Given the description of an element on the screen output the (x, y) to click on. 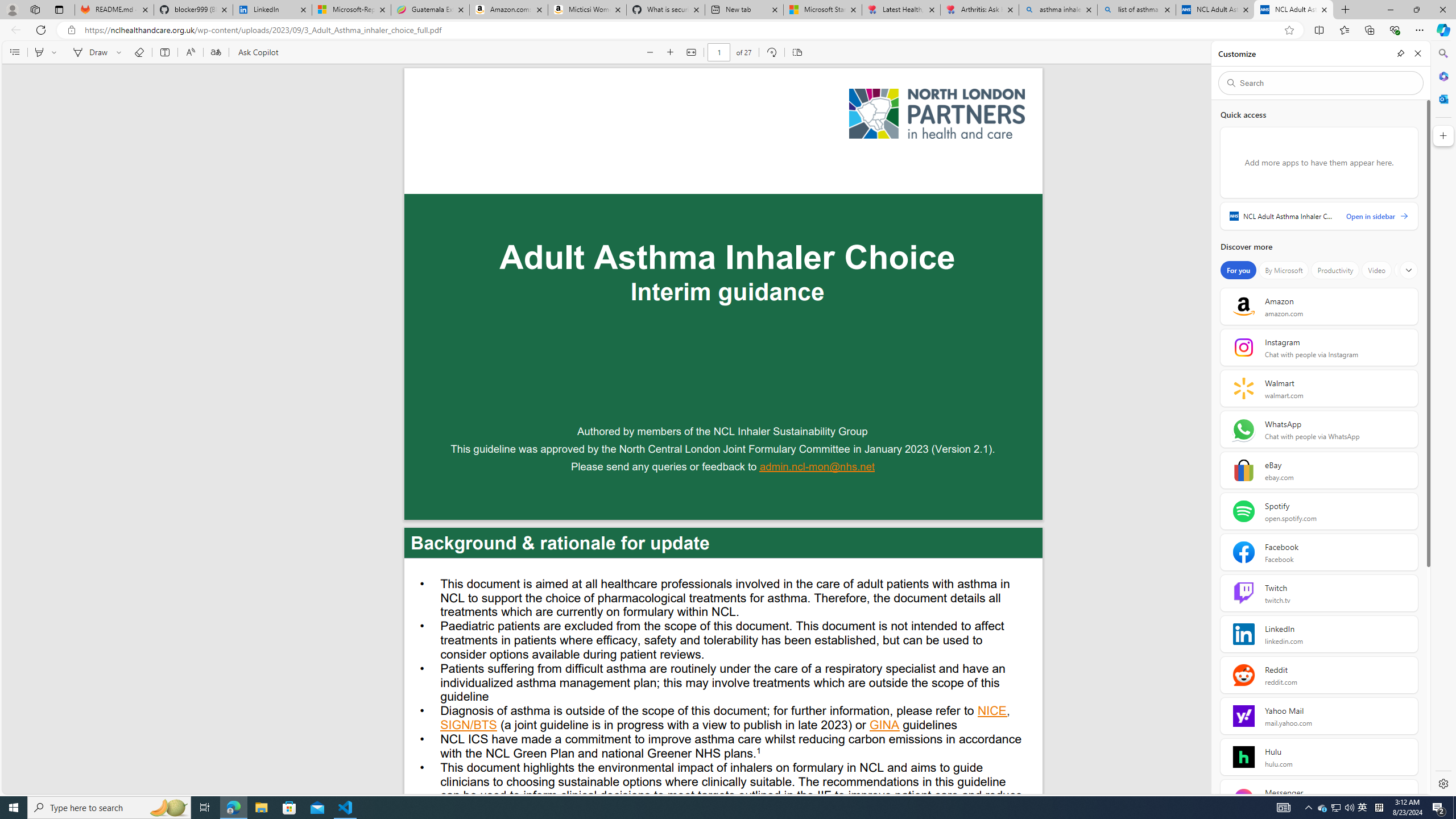
Contents (14, 52)
Unlabeled graphic (936, 114)
PDF bar (723, 51)
GINA  (884, 726)
NICE (991, 711)
Print (Ctrl+P) (1365, 52)
LinkedIn (272, 9)
Productivity (1334, 270)
SIGN/BTS (468, 726)
